Given the description of an element on the screen output the (x, y) to click on. 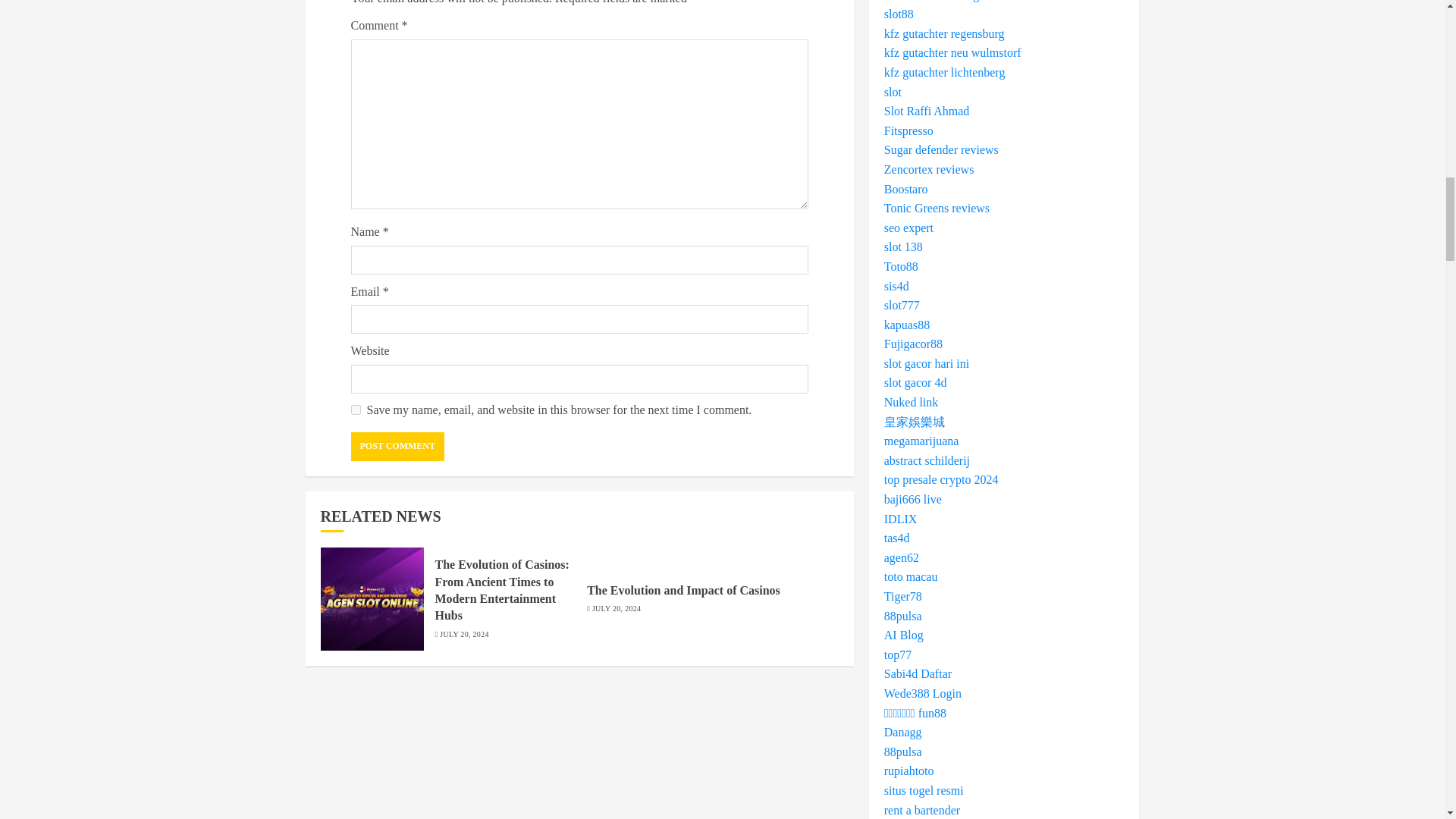
JULY 20, 2024 (616, 608)
JULY 20, 2024 (463, 634)
Post Comment (397, 446)
The Evolution and Impact of Casinos (683, 590)
yes (354, 409)
Post Comment (397, 446)
